Given the description of an element on the screen output the (x, y) to click on. 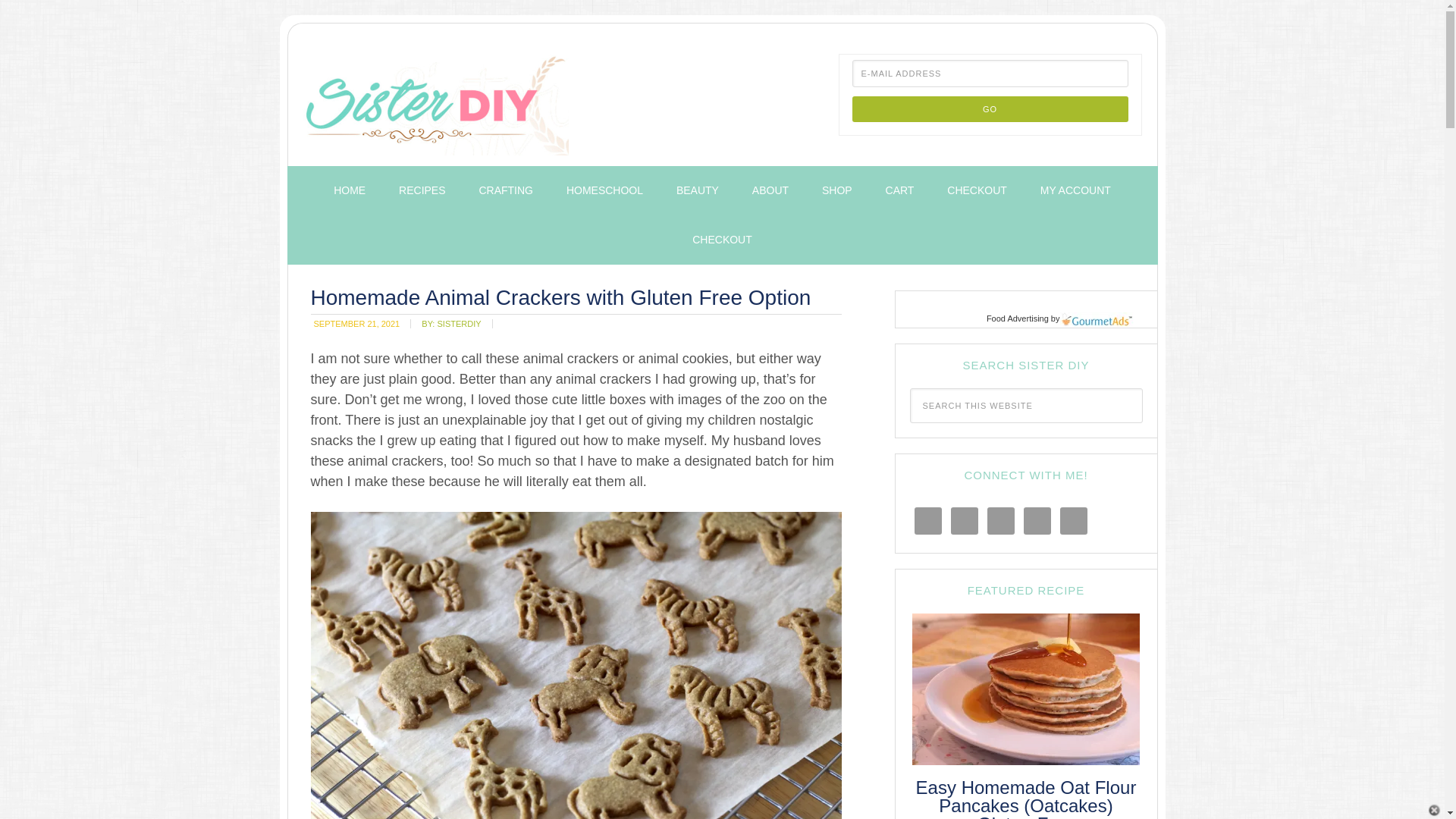
HOMESCHOOL (604, 190)
BEAUTY (697, 190)
Food Advertising (1017, 317)
MY ACCOUNT (1075, 190)
RECIPES (422, 190)
SHOP (836, 190)
CRAFTING (505, 190)
Go (989, 109)
HOME (349, 190)
Go (989, 109)
CHECKOUT (722, 239)
CHECKOUT (976, 190)
ABOUT (769, 190)
